Given the description of an element on the screen output the (x, y) to click on. 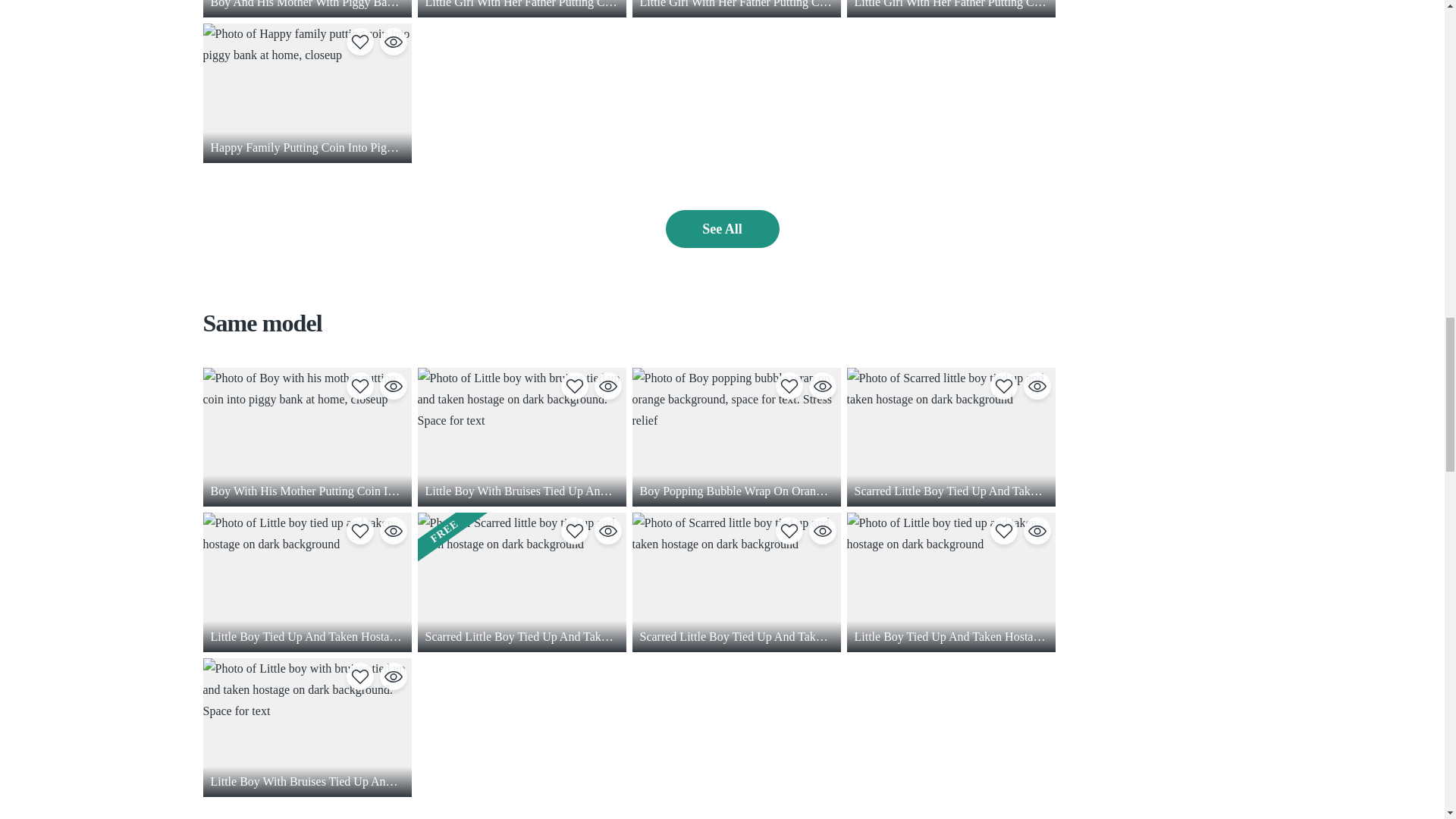
Little boy tied up and taken hostage on dark background (307, 581)
Little boy tied up and taken hostage on dark background (949, 581)
Boy and his mother with piggy bank at home (307, 8)
